Given the description of an element on the screen output the (x, y) to click on. 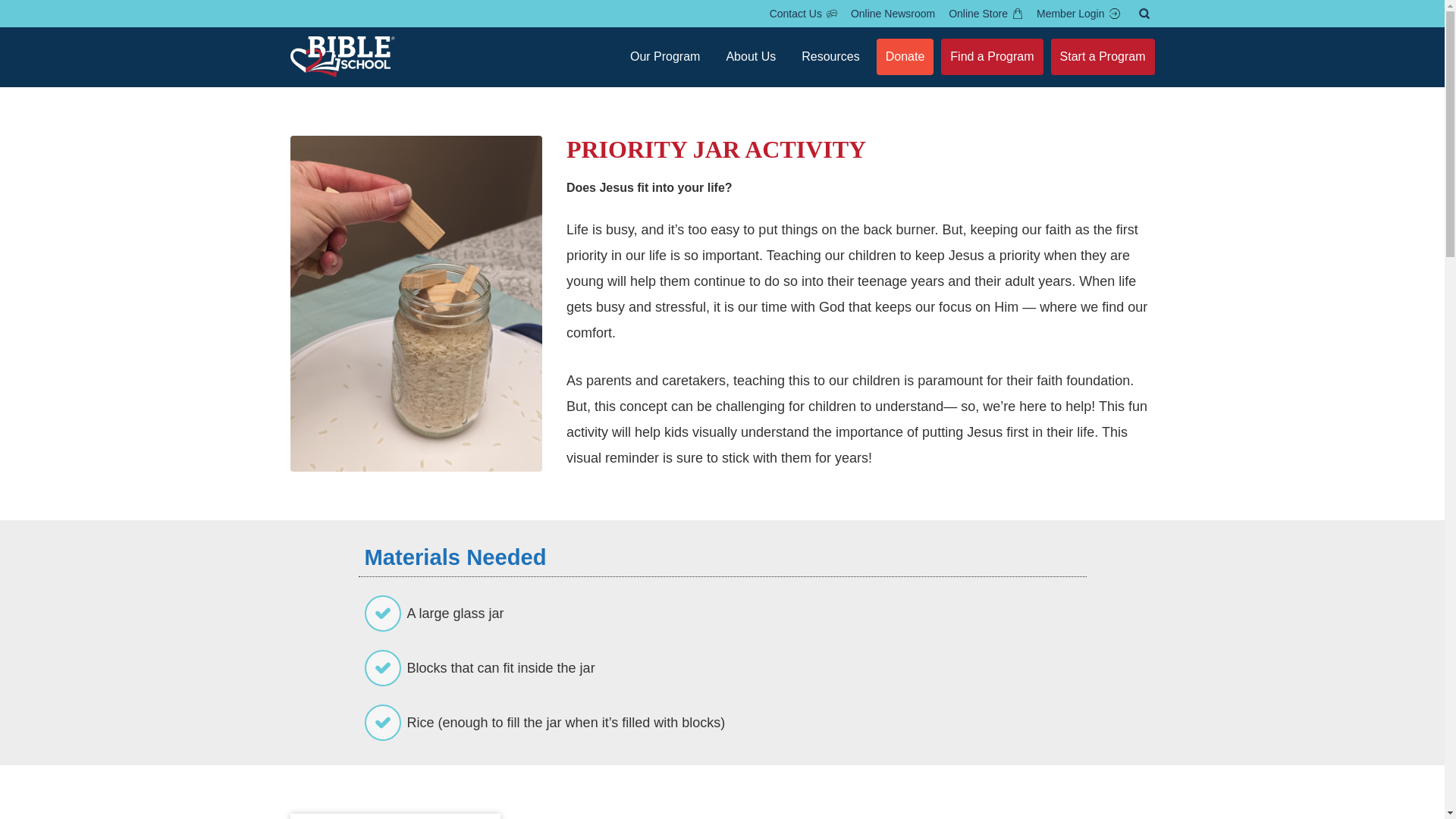
Follow text link to Our Program page (665, 56)
Online Newsroom (892, 13)
Member Login (1077, 13)
Donate (905, 56)
About Us (750, 56)
Online Store (985, 13)
Contact Us (803, 13)
Follow text link to Online Newsroom page (892, 13)
Follow text link to Contact Us page (803, 13)
Follow text link to About Us page (750, 56)
